Given the description of an element on the screen output the (x, y) to click on. 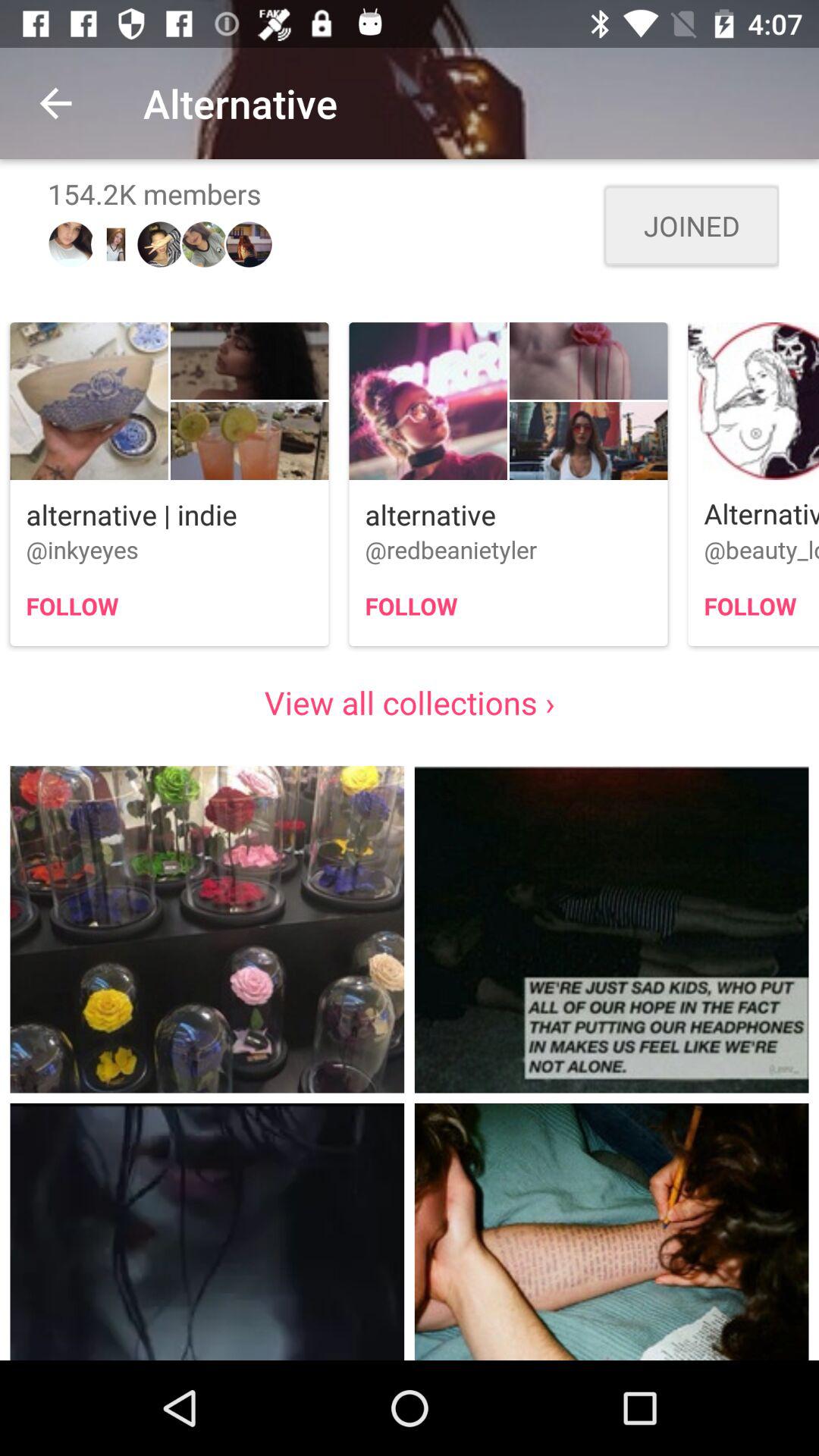
click on second image below view all collections  (611, 929)
click on the third image above alternative  indie (249, 440)
click on the first image in first row presented above view all collections (169, 483)
click on the second image below 1542k members (115, 244)
click on the first image above alternative  indie button (72, 244)
click on second image above alternative (588, 359)
